Given the description of an element on the screen output the (x, y) to click on. 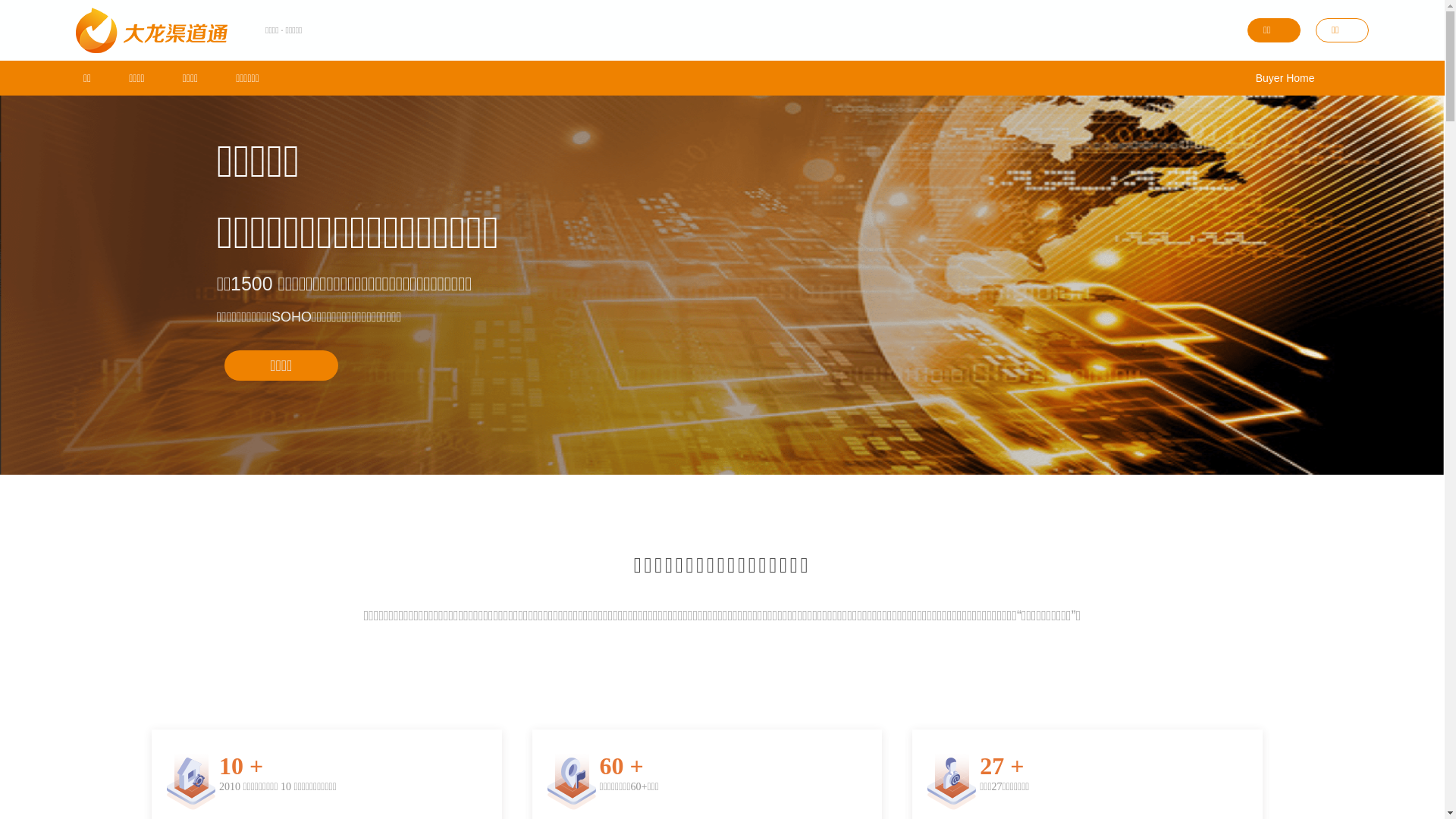
Buyer Home Element type: text (1284, 78)
